Given the description of an element on the screen output the (x, y) to click on. 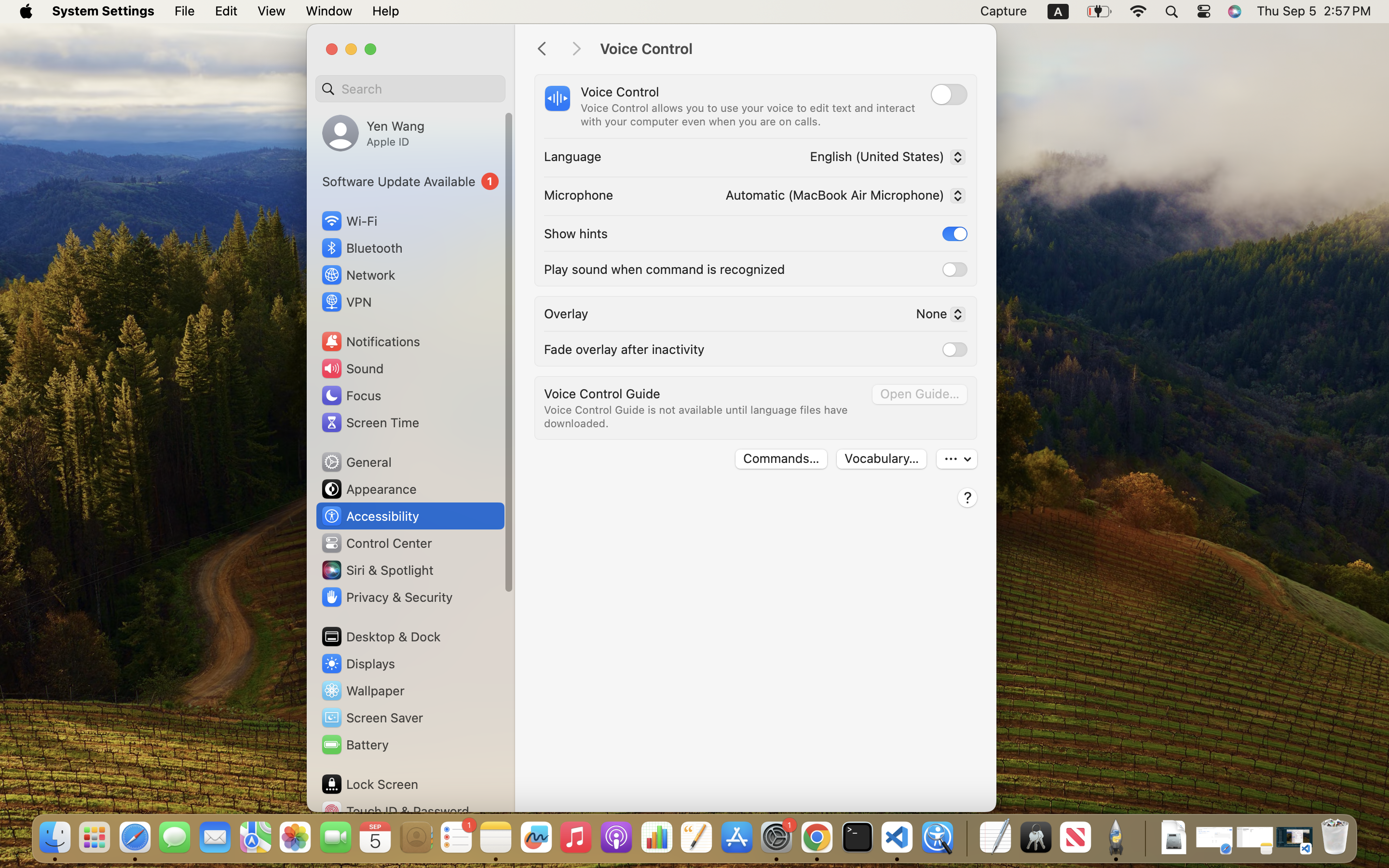
Voice Control allows you to use your voice to edit text and interact with your computer even when you are on calls. Element type: AXStaticText (749, 114)
1 Element type: AXStaticText (410, 180)
Automatic (MacBook Air Microphone) Element type: AXPopUpButton (842, 197)
Privacy & Security Element type: AXStaticText (386, 596)
VPN Element type: AXStaticText (345, 301)
